Given the description of an element on the screen output the (x, y) to click on. 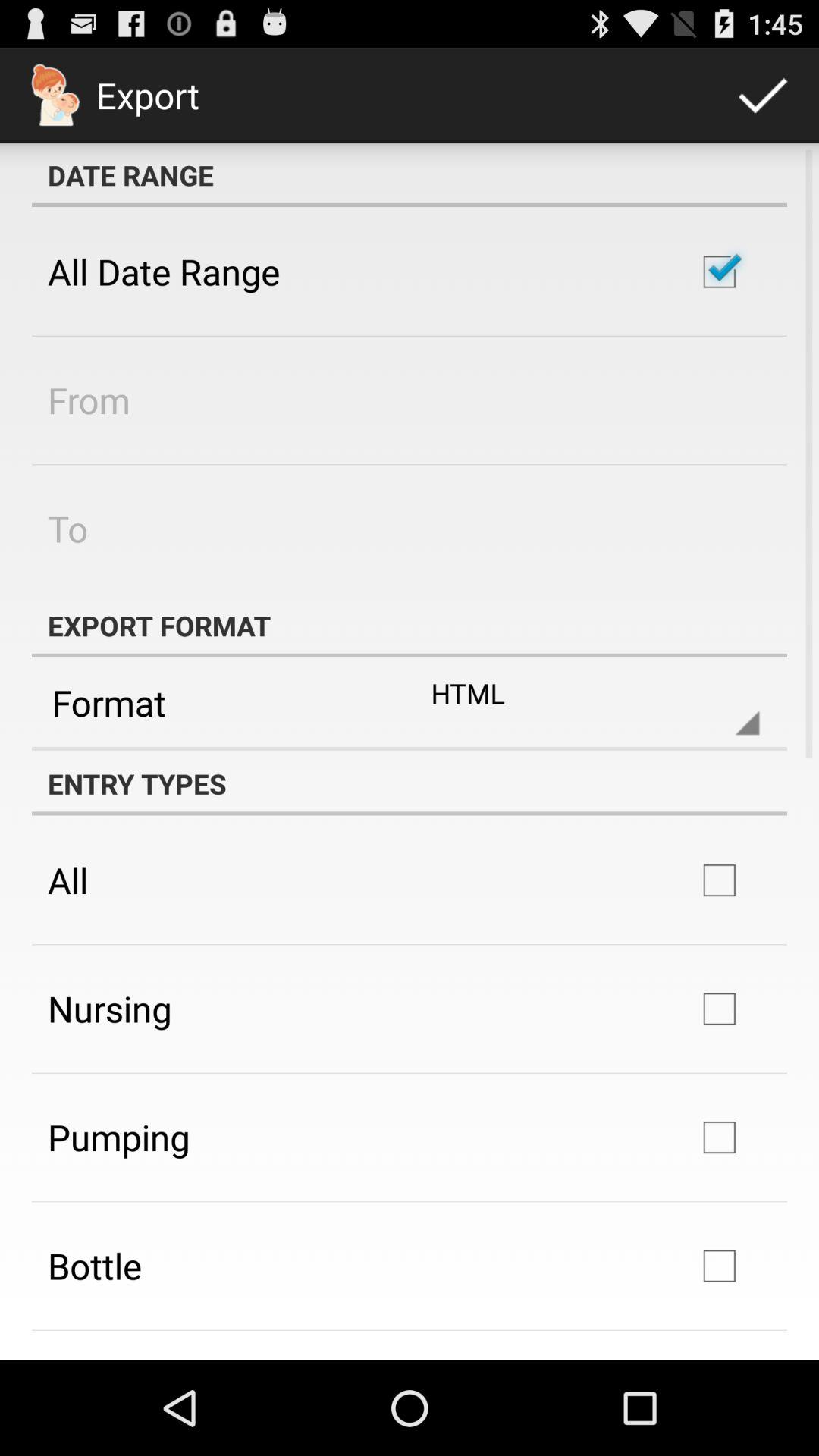
turn off nursing icon (109, 1008)
